Given the description of an element on the screen output the (x, y) to click on. 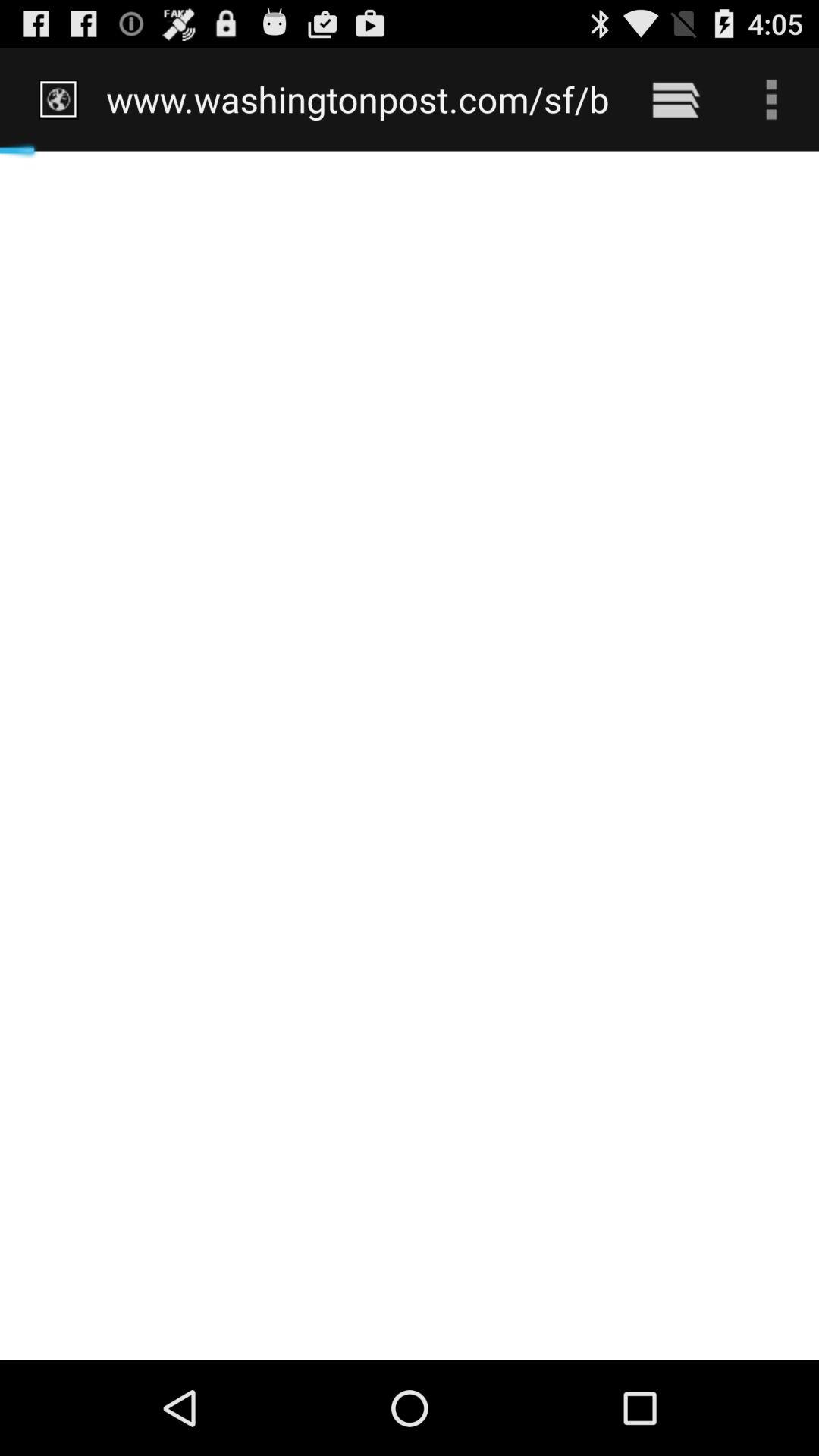
click www washingtonpost com icon (357, 99)
